Given the description of an element on the screen output the (x, y) to click on. 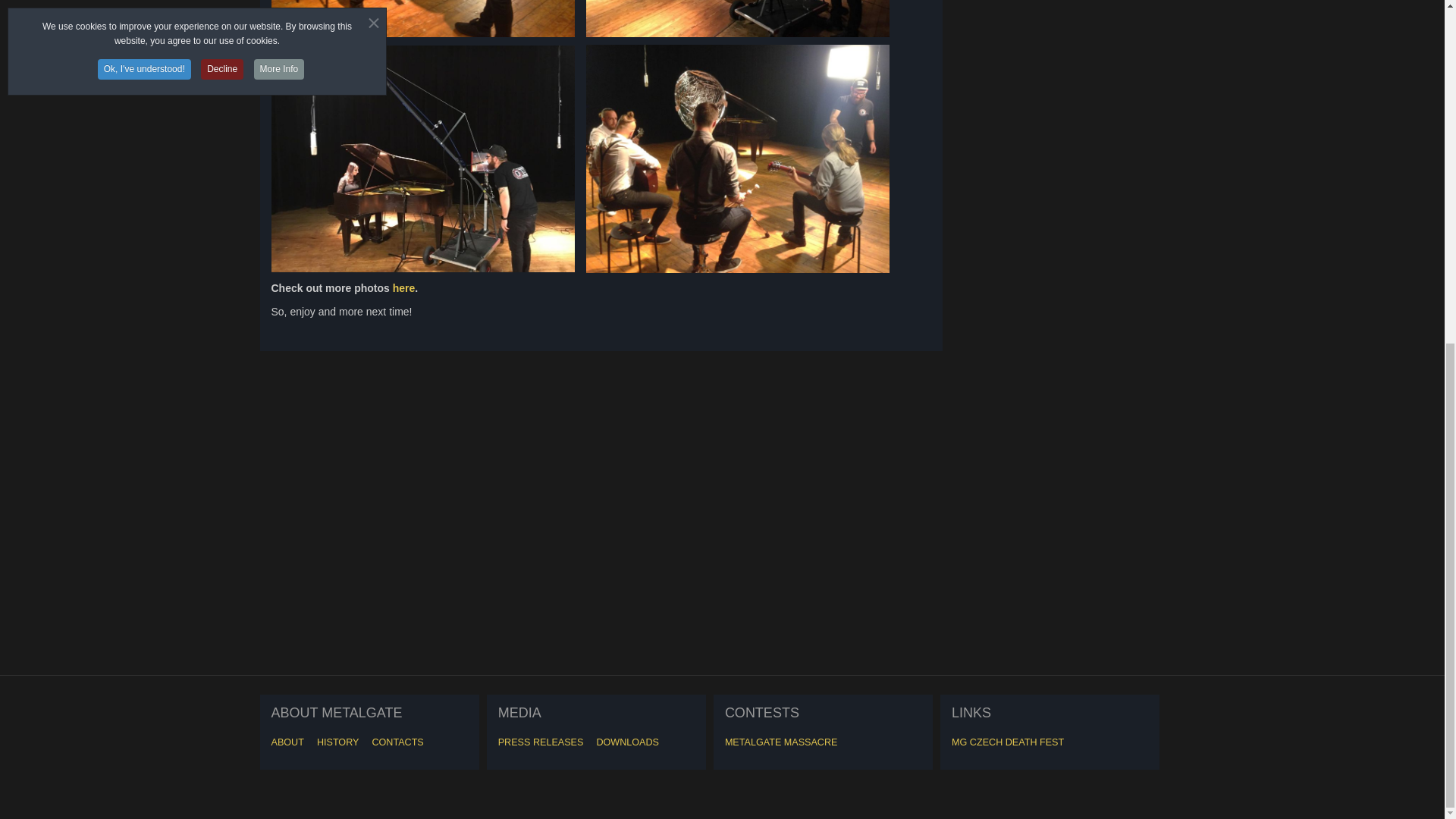
ABOUT (287, 742)
PRESS RELEASES (540, 742)
MG CZECH DEATH FEST (1008, 742)
METALGATE MASSACRE (781, 742)
HISTORY (338, 742)
CONTACTS (397, 742)
DOWNLOADS (627, 742)
here (403, 287)
